Given the description of an element on the screen output the (x, y) to click on. 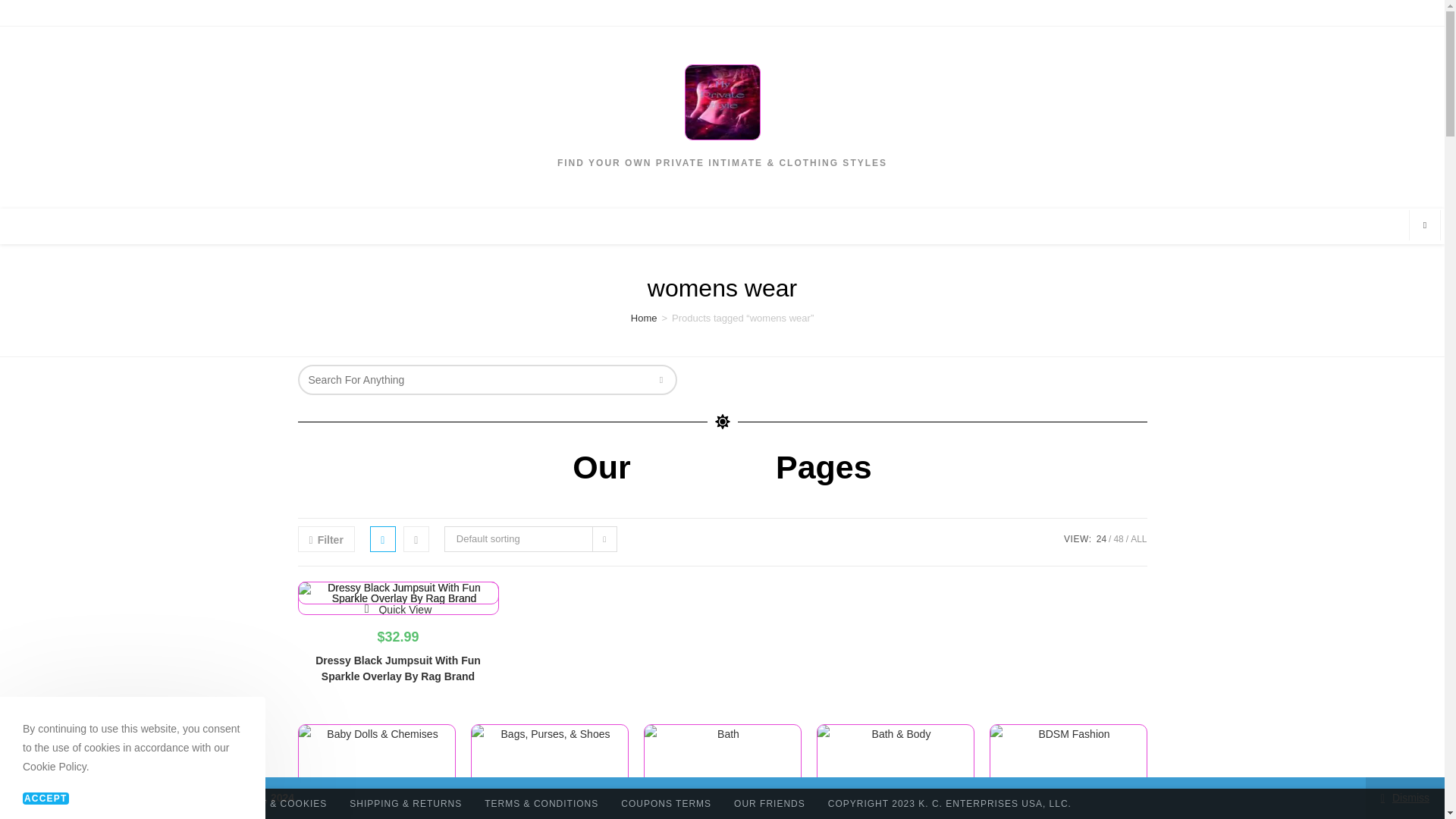
Grid view (382, 539)
List view (416, 539)
HOME (611, 12)
MY ACCOUNT (813, 12)
SHOPPING CART (728, 12)
SHOP (658, 12)
